Given the description of an element on the screen output the (x, y) to click on. 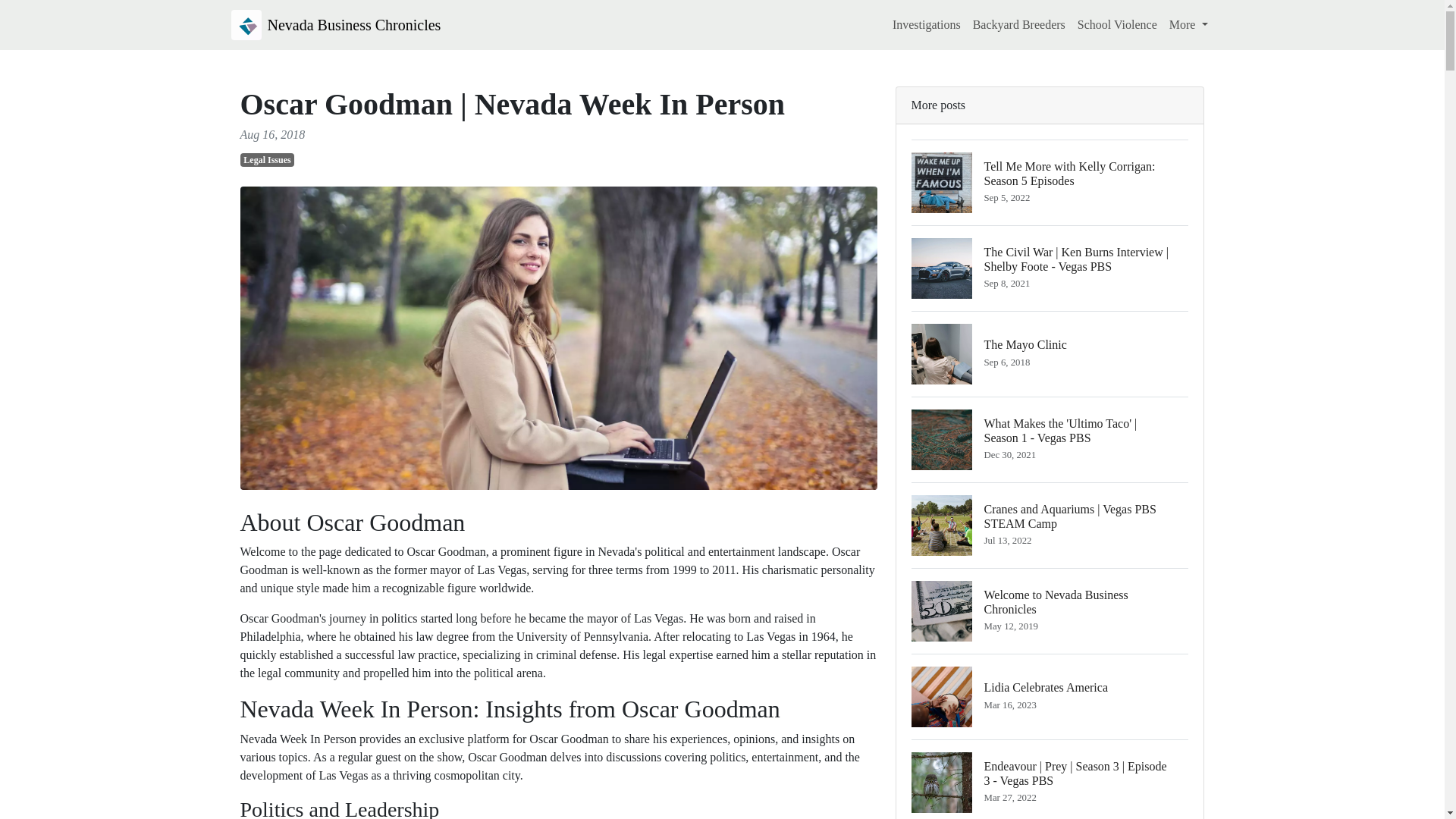
More (1050, 353)
School Violence (1188, 24)
Nevada Business Chronicles (1050, 610)
Investigations (1117, 24)
Legal Issues (335, 24)
Backyard Breeders (926, 24)
